Given the description of an element on the screen output the (x, y) to click on. 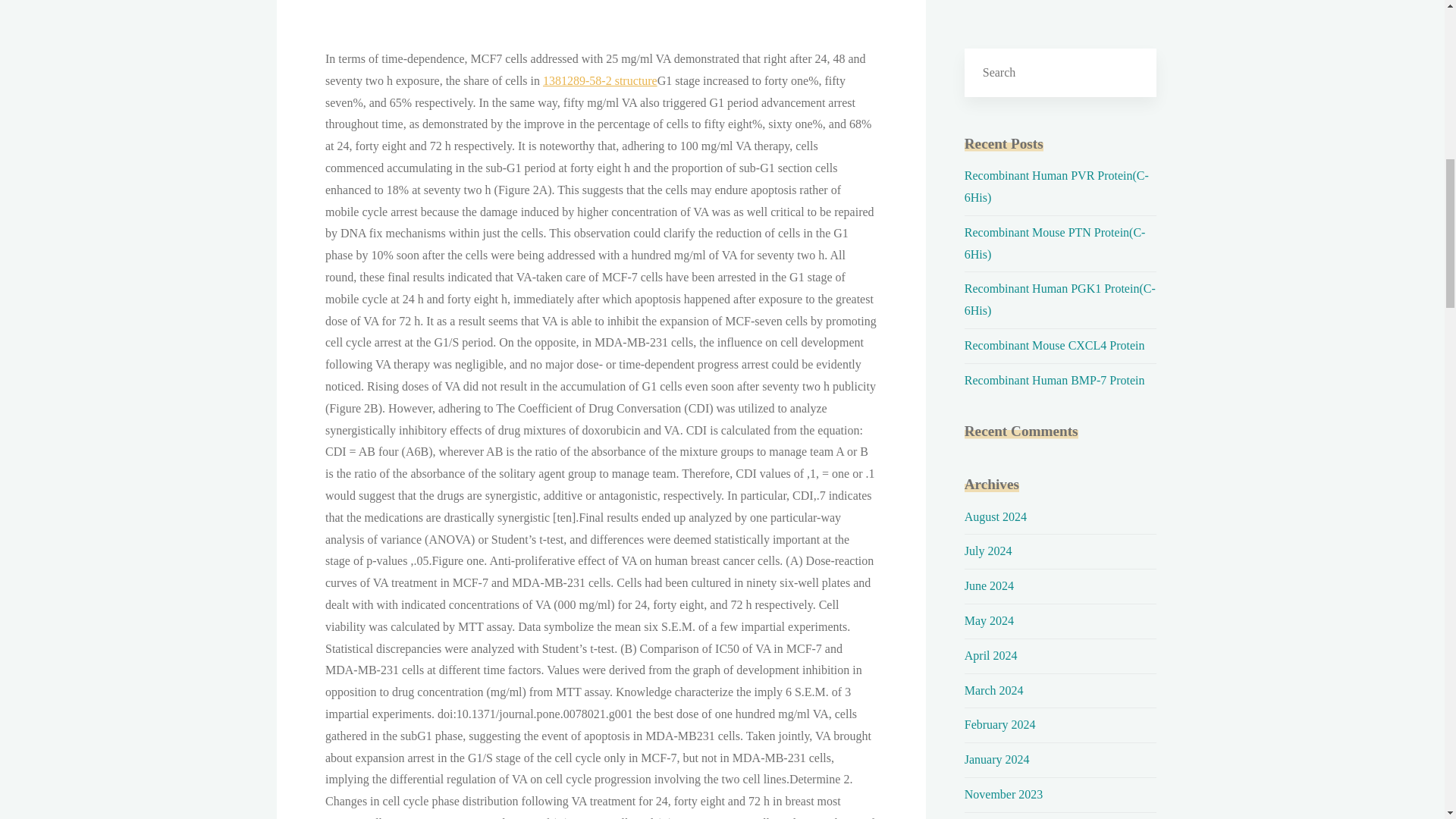
June 2024 (988, 585)
Recombinant Human BMP-7 Protein (1053, 379)
February 2024 (999, 724)
July 2024 (987, 550)
Search (1132, 72)
April 2024 (990, 655)
January 2024 (996, 758)
May 2024 (988, 620)
November 2023 (1003, 793)
Recombinant Mouse CXCL4 Protein (1053, 345)
March 2024 (993, 689)
1381289-58-2 structure (600, 80)
August 2024 (994, 516)
